Given the description of an element on the screen output the (x, y) to click on. 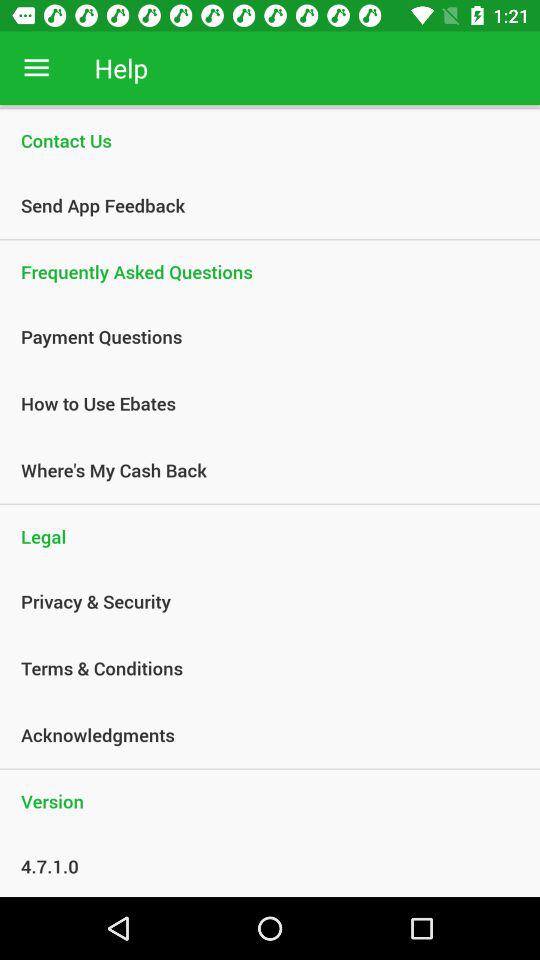
press the icon above acknowledgments item (259, 667)
